Given the description of an element on the screen output the (x, y) to click on. 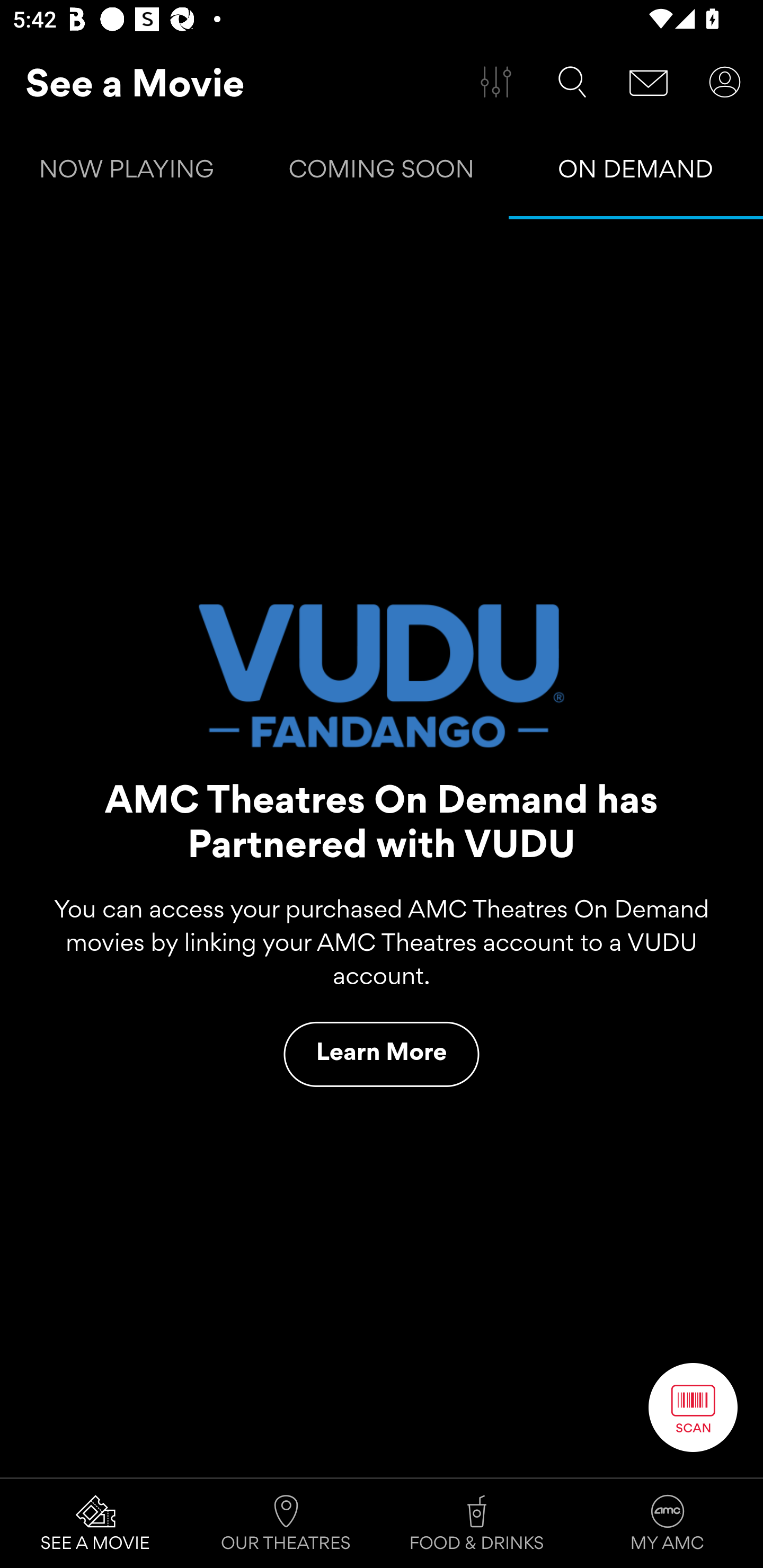
Search (572, 82)
Message Center (648, 82)
User Account (724, 82)
NOW PLAYING
Tab 1 of 3 (127, 173)
COMING SOON
Tab 2 of 3 (381, 173)
ON DEMAND
Tab 3 of 3 (635, 173)
Learn More (381, 1054)
Scan Button (692, 1406)
SEE A MOVIE
Tab 1 of 4 (95, 1523)
OUR THEATRES
Tab 2 of 4 (285, 1523)
FOOD & DRINKS
Tab 3 of 4 (476, 1523)
MY AMC
Tab 4 of 4 (667, 1523)
